Given the description of an element on the screen output the (x, y) to click on. 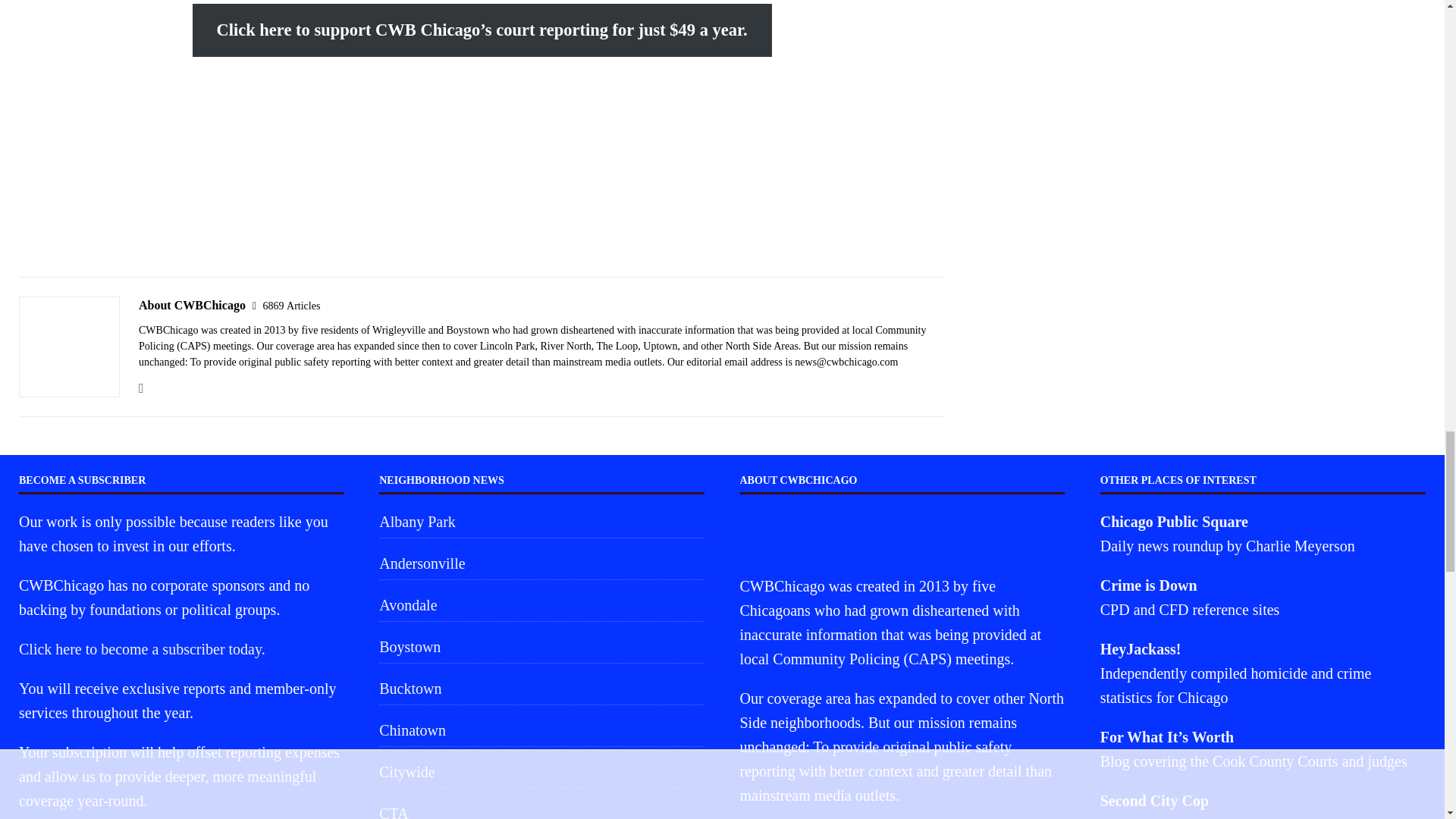
6869 Articles (291, 306)
Avondale (541, 604)
Albany Park (541, 523)
Click here to become a subscriber today. (141, 648)
CTA (541, 808)
More articles written by CWBChicago' (291, 306)
Boystown (541, 646)
Bucktown (541, 688)
Andersonville (541, 563)
Chinatown (541, 730)
Citywide (541, 771)
